Given the description of an element on the screen output the (x, y) to click on. 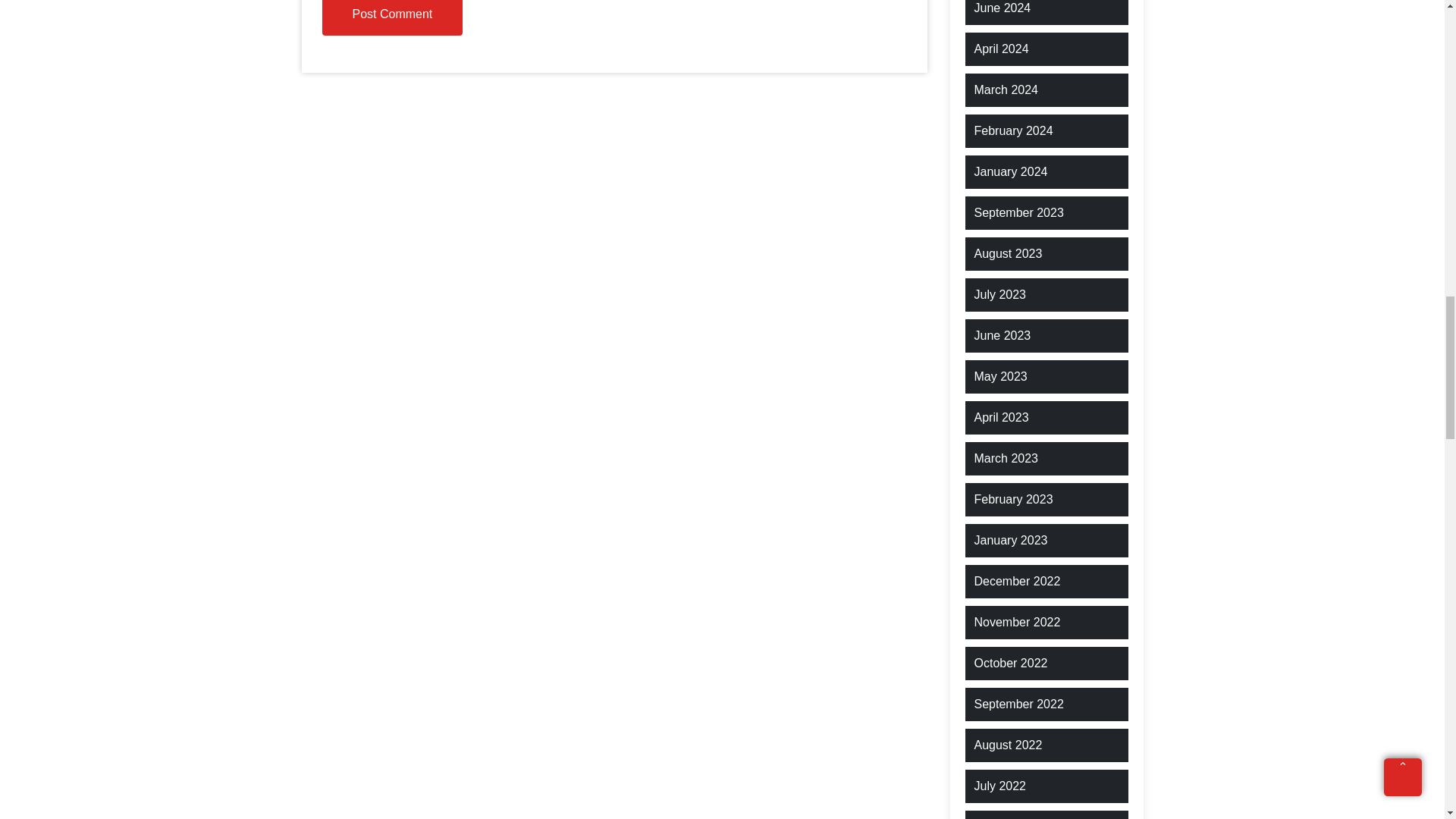
March 2024 (1006, 90)
July 2023 (1000, 294)
Post Comment (392, 18)
August 2023 (1008, 253)
April 2024 (1000, 49)
February 2024 (1013, 131)
June 2024 (1002, 8)
Post Comment (392, 18)
September 2023 (1018, 212)
January 2024 (1010, 171)
